Given the description of an element on the screen output the (x, y) to click on. 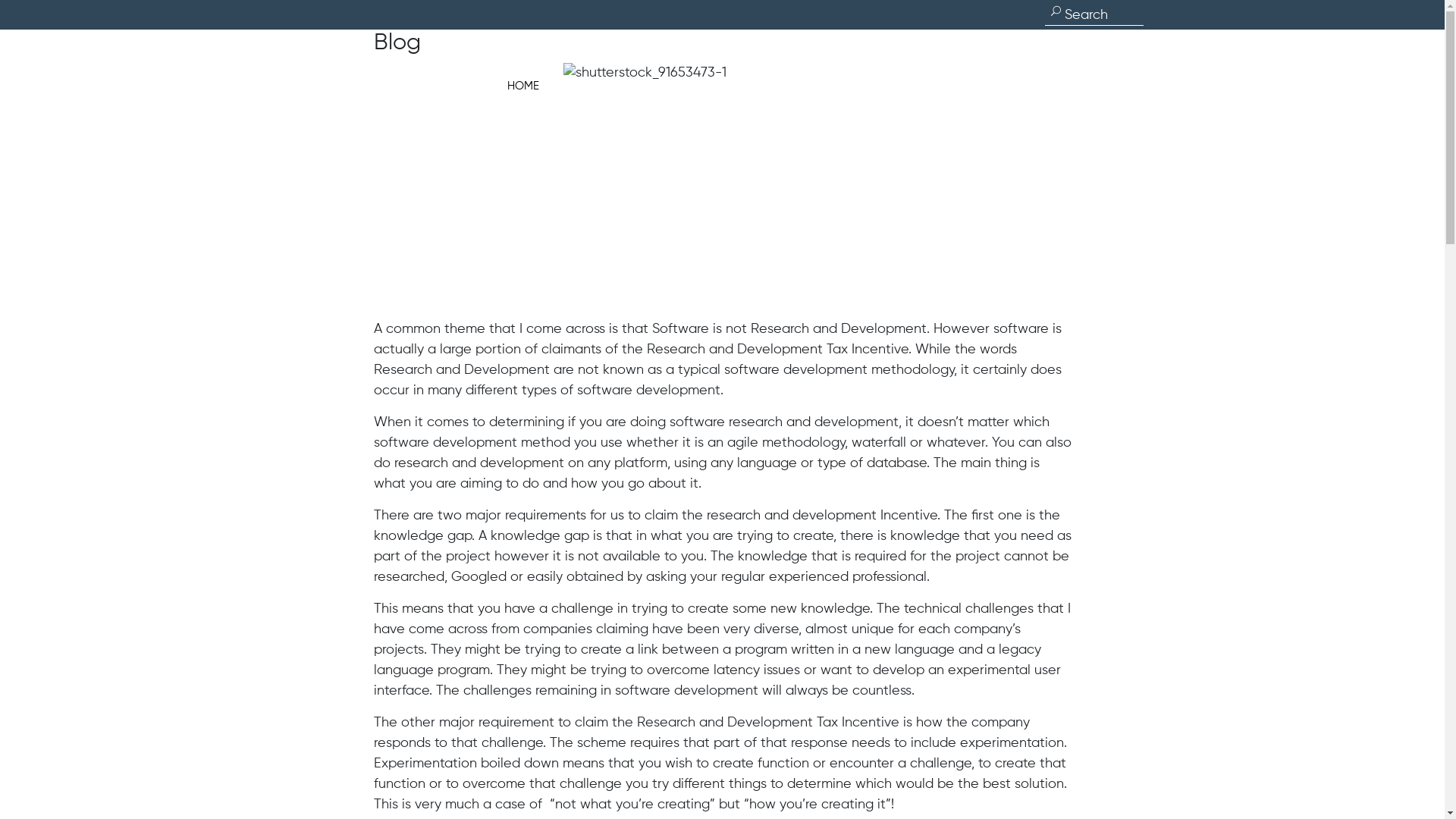
Innercode R&D Element type: text (352, 53)
Search Element type: text (46, 15)
HOME Element type: text (522, 84)
